Given the description of an element on the screen output the (x, y) to click on. 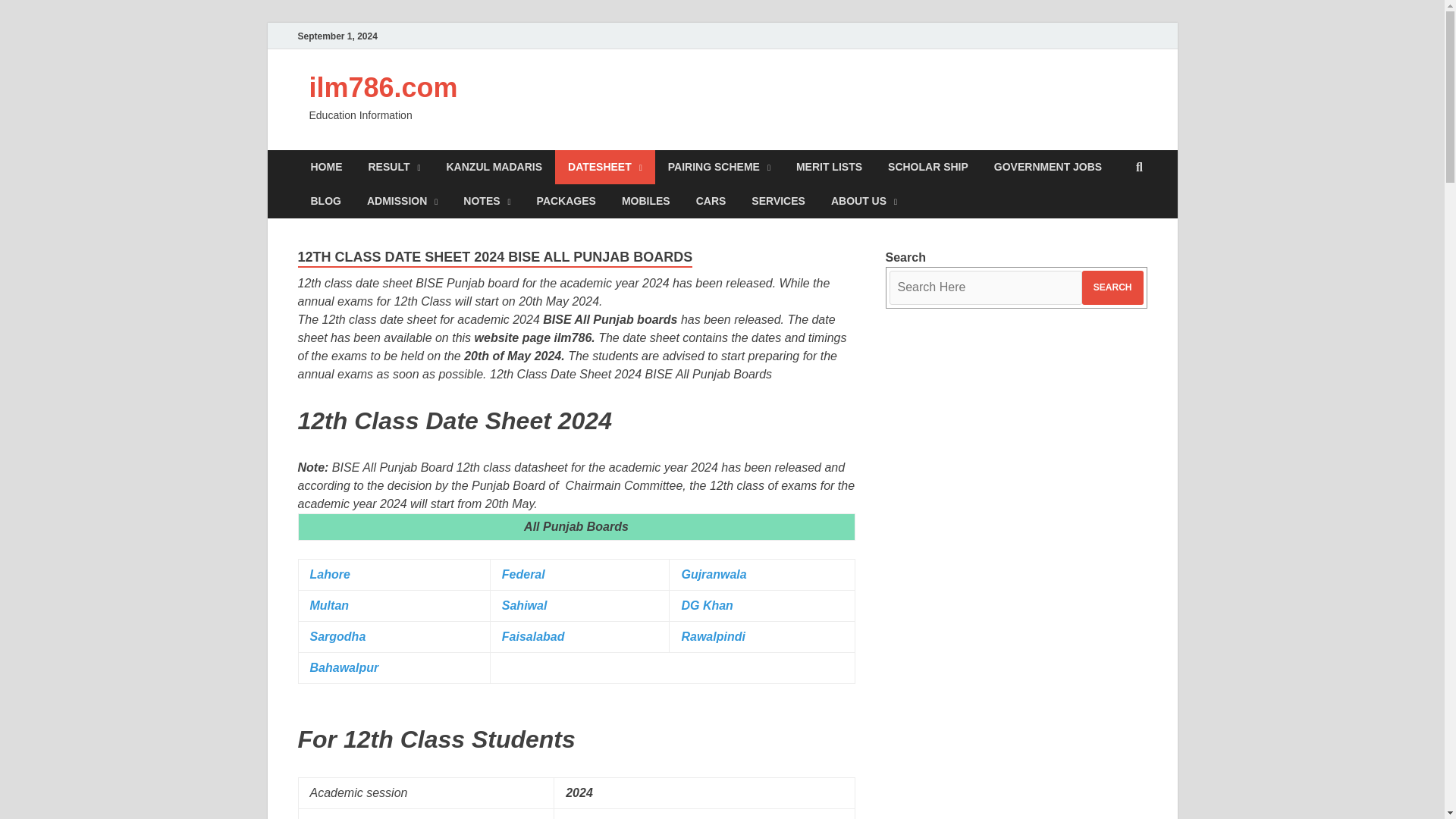
MOBILES (645, 201)
HOME (326, 166)
SCHOLAR SHIP (928, 166)
DATESHEET (604, 166)
ADMISSION (401, 201)
ilm786.com (383, 87)
GOVERNMENT JOBS (1048, 166)
BLOG (325, 201)
NOTES (485, 201)
MERIT LISTS (829, 166)
